Given the description of an element on the screen output the (x, y) to click on. 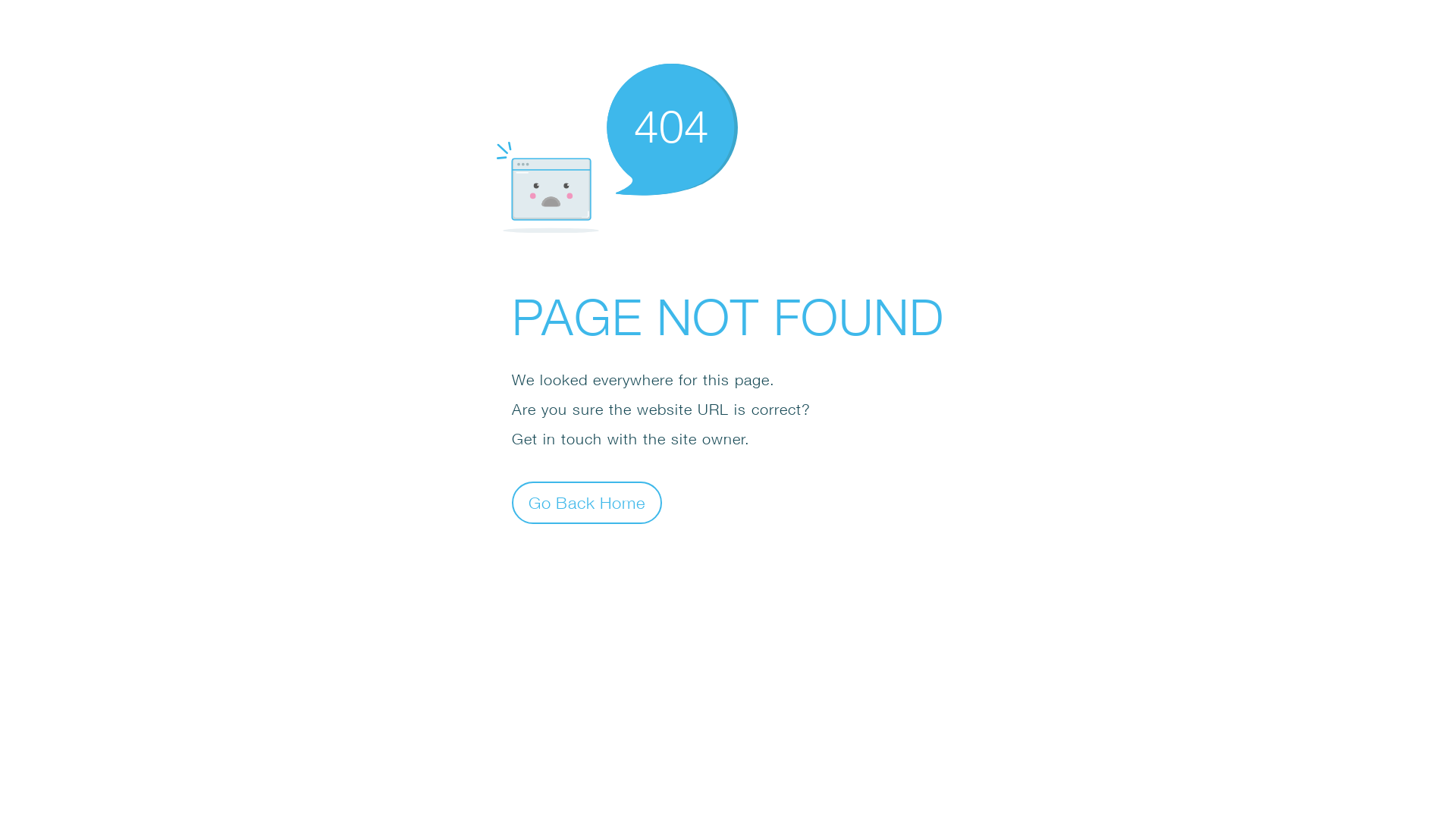
Go Back Home Element type: text (586, 502)
